Given the description of an element on the screen output the (x, y) to click on. 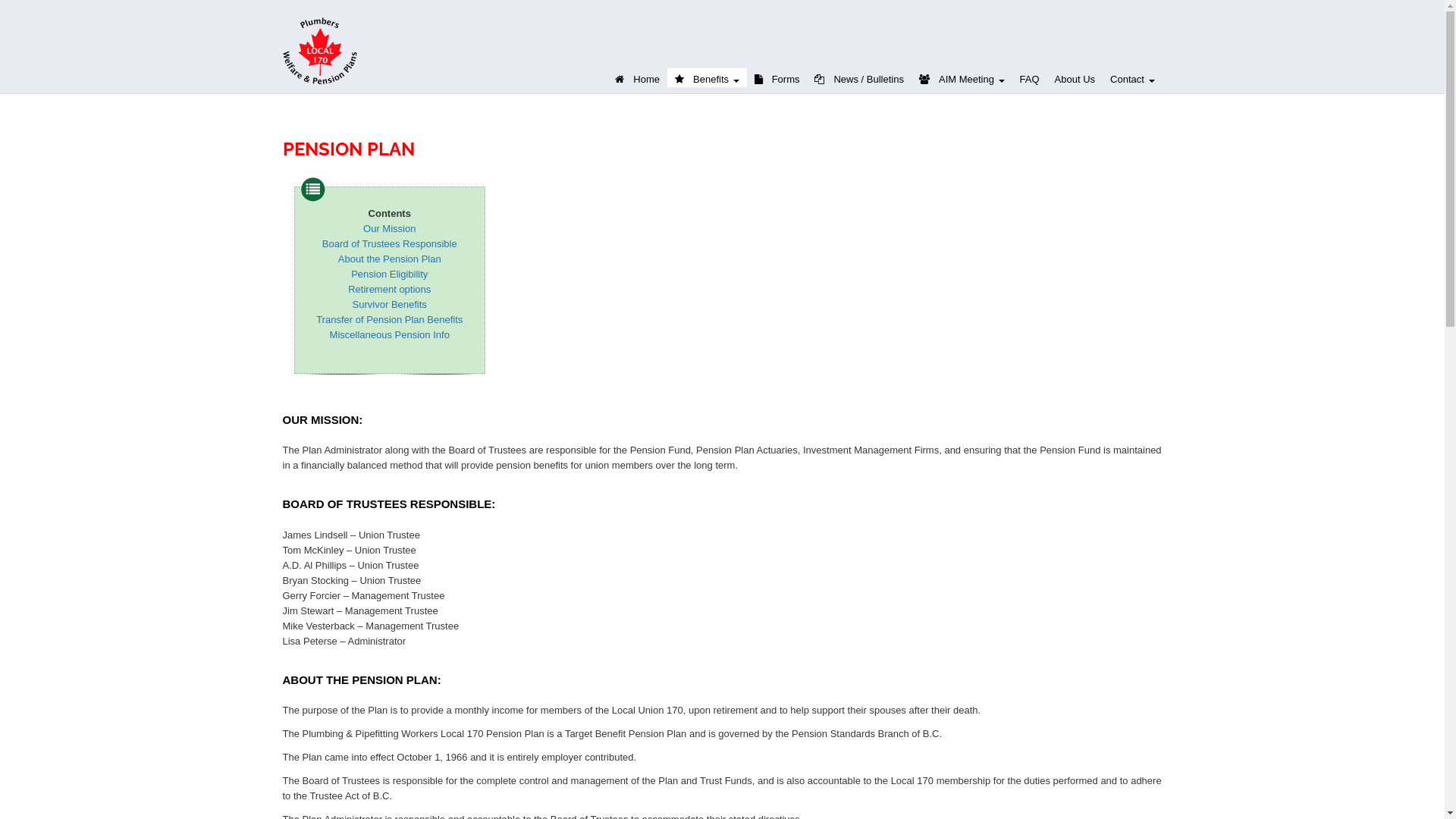
AIM Meeting Element type: text (961, 77)
Survivor Benefits Element type: text (389, 304)
FAQ Element type: text (1029, 77)
Transfer of Pension Plan Benefits Element type: text (389, 319)
Our Mission Element type: text (389, 228)
Home Element type: text (637, 77)
Benefits Element type: text (706, 77)
Forms Element type: text (776, 77)
Board of Trustees Responsible Element type: text (389, 243)
About Us Element type: text (1074, 77)
Contact Element type: text (1131, 77)
Pension Eligibility Element type: text (389, 273)
News / Bulletins Element type: text (858, 77)
Retirement options Element type: text (389, 288)
Miscellaneous Pension Info Element type: text (389, 334)
About the Pension Plan Element type: text (389, 258)
